Given the description of an element on the screen output the (x, y) to click on. 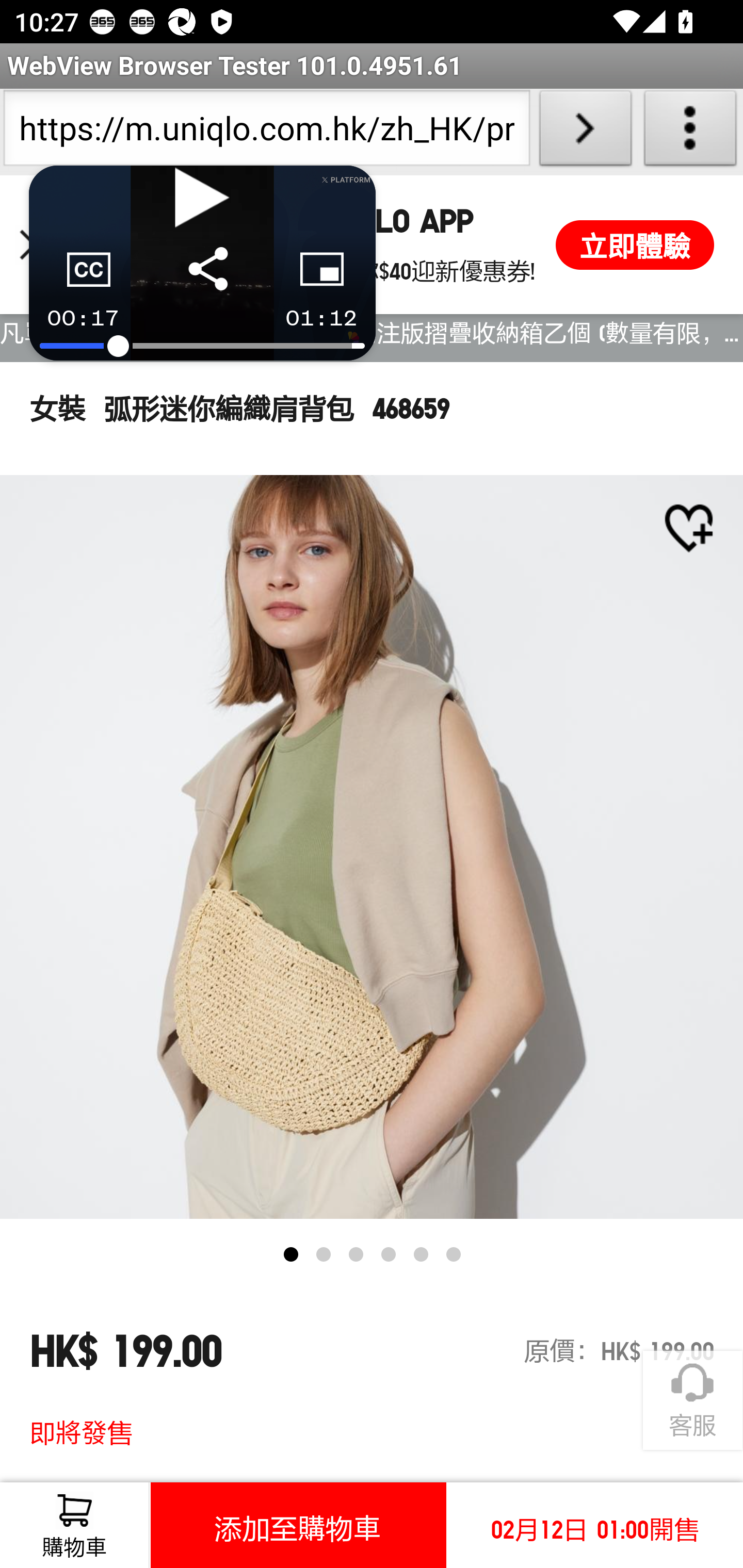
Load URL (585, 132)
About WebView (690, 132)
立即體驗 (634, 244)
add to favorites (688, 528)
v5RSjKMREmGkfglMv4DtSnrpZtfmXAAAAAASUVORK5CYII= 客服 (692, 1400)
購物車 (74, 1524)
添加至購物車 (297, 1524)
02月12日 01:00開售 (594, 1524)
